Given the description of an element on the screen output the (x, y) to click on. 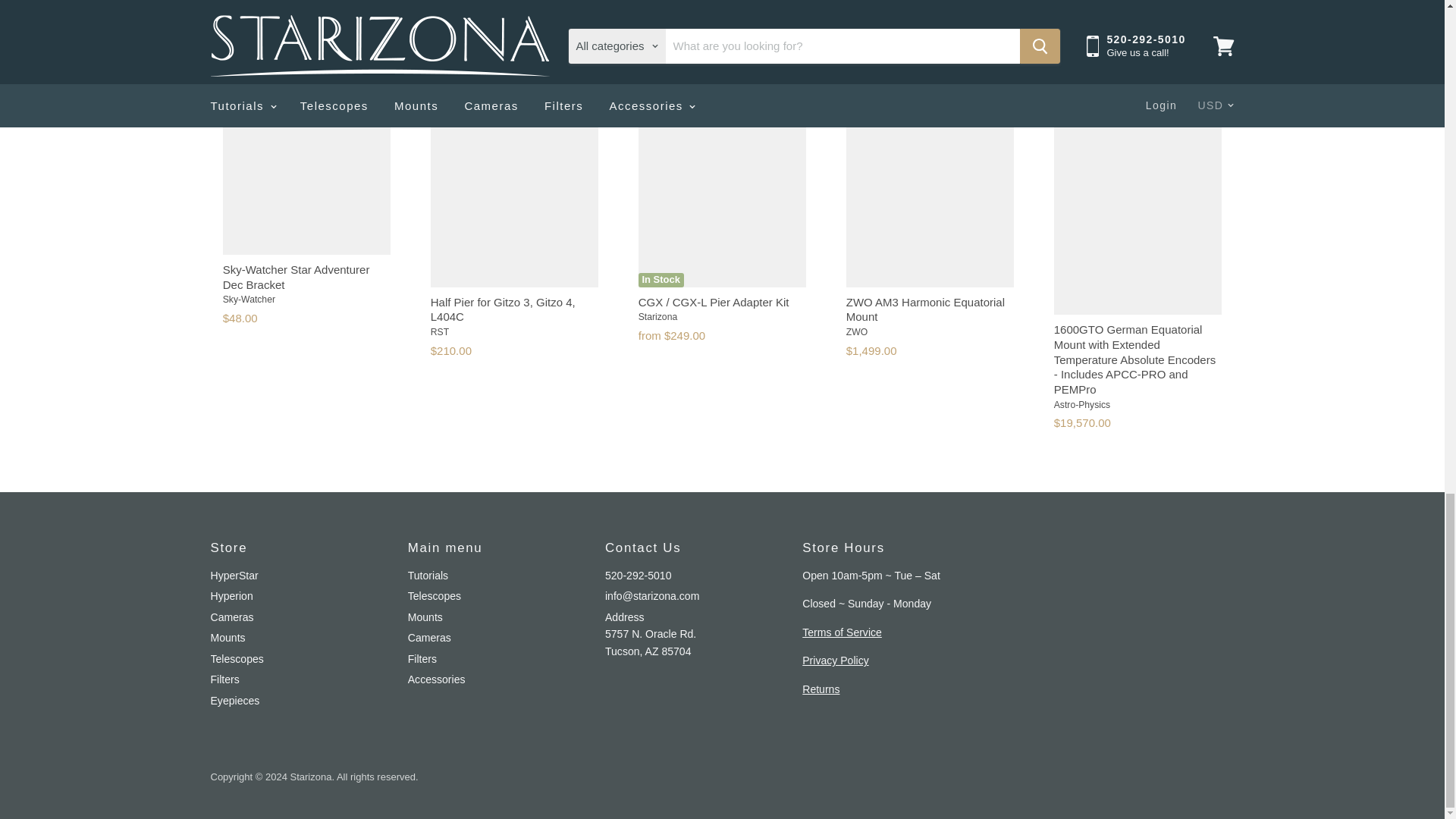
Starizona (658, 317)
Sky-Watcher (248, 299)
Astro-Physics (1081, 404)
RST (439, 331)
ZWO (856, 331)
